Given the description of an element on the screen output the (x, y) to click on. 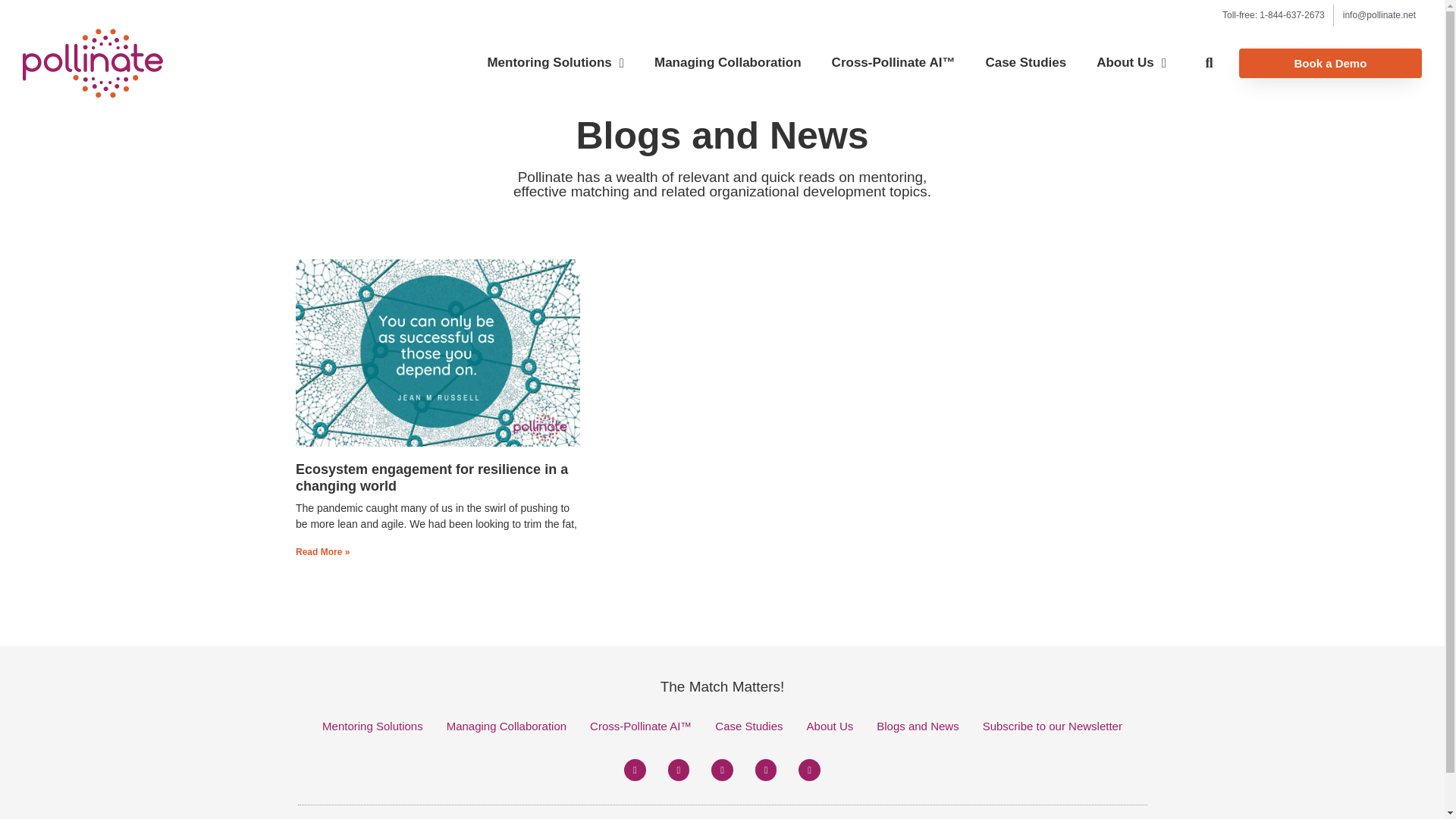
Toll-free: 1-844-637-2673 (1273, 15)
Mentoring Solutions (555, 62)
Email Us (1378, 15)
Cross-Pollinate Al (893, 62)
Call Us (1273, 15)
